Given the description of an element on the screen output the (x, y) to click on. 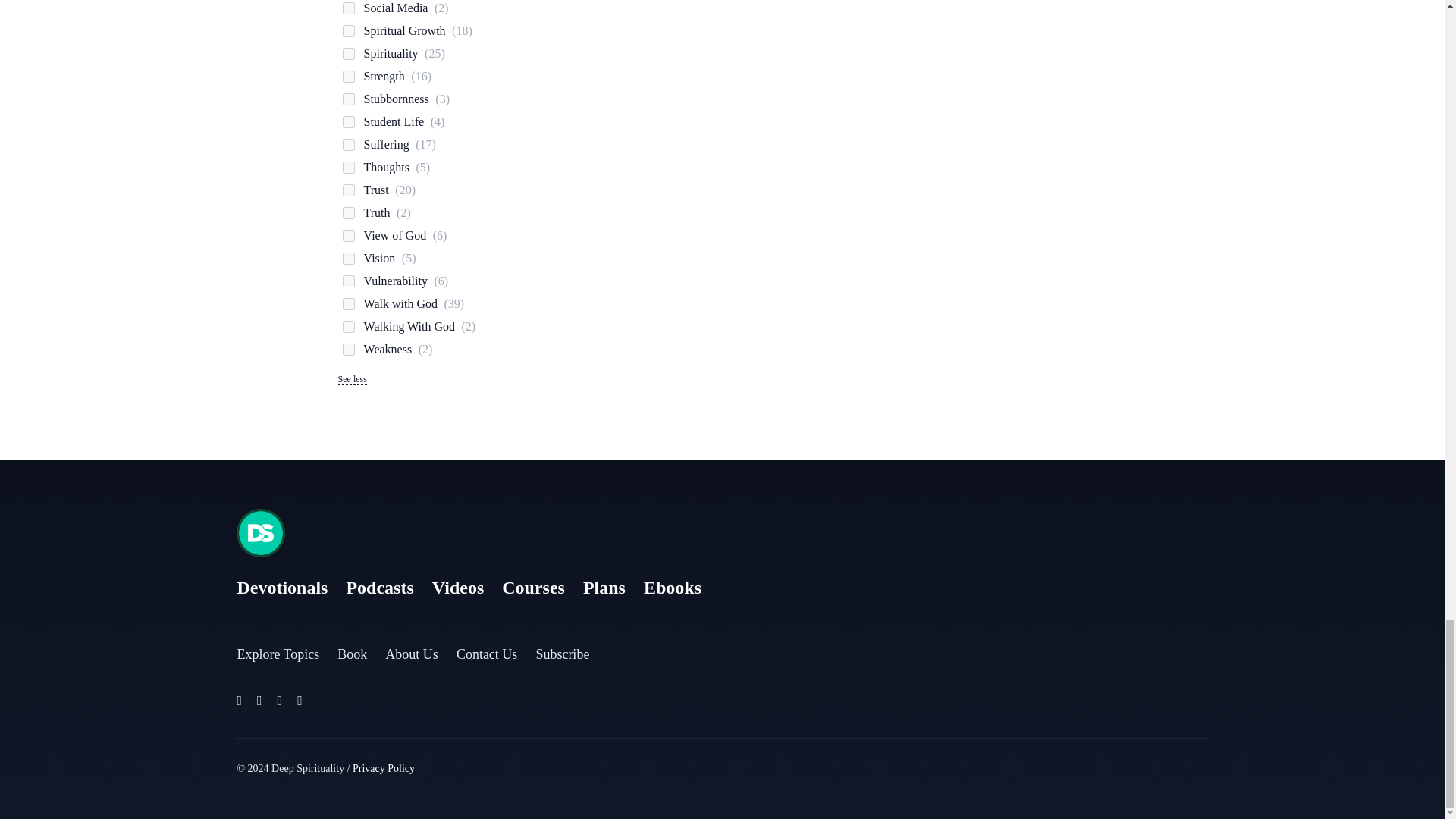
DS Icon (260, 532)
